Given the description of an element on the screen output the (x, y) to click on. 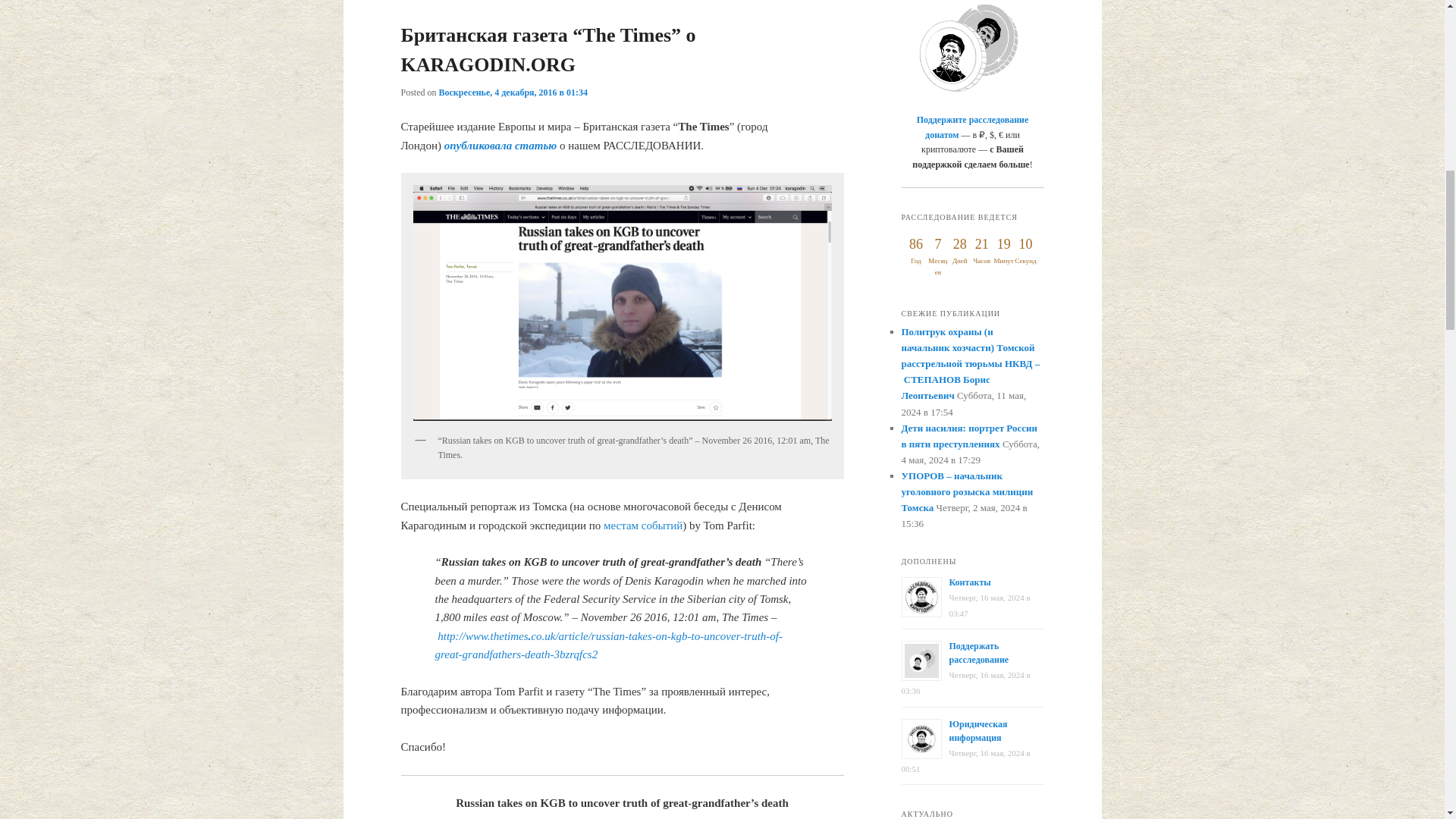
01:34 (513, 91)
